Given the description of an element on the screen output the (x, y) to click on. 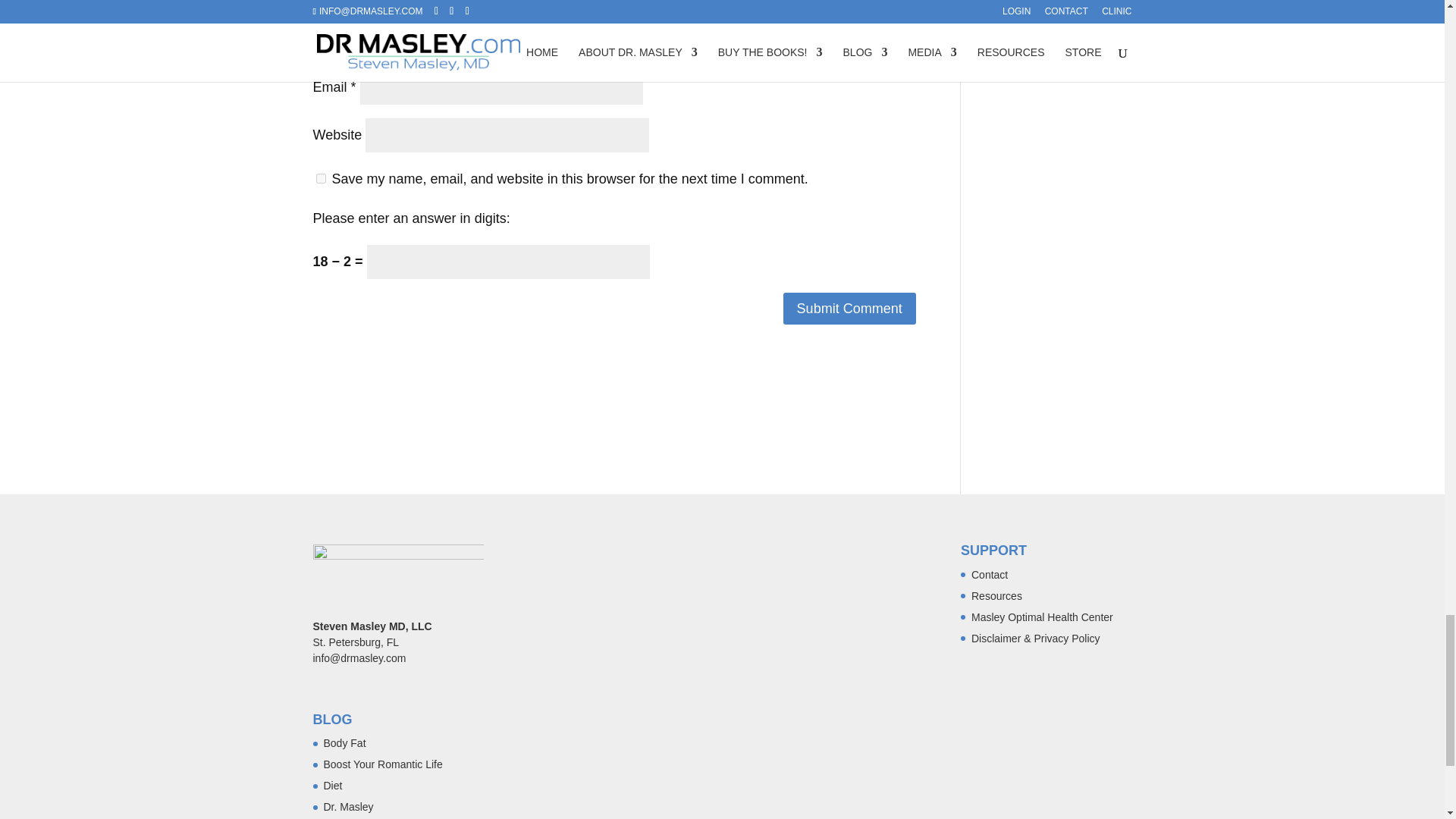
Disclaimer (1035, 638)
yes (319, 178)
Submit Comment (849, 307)
Contact (989, 574)
